Given the description of an element on the screen output the (x, y) to click on. 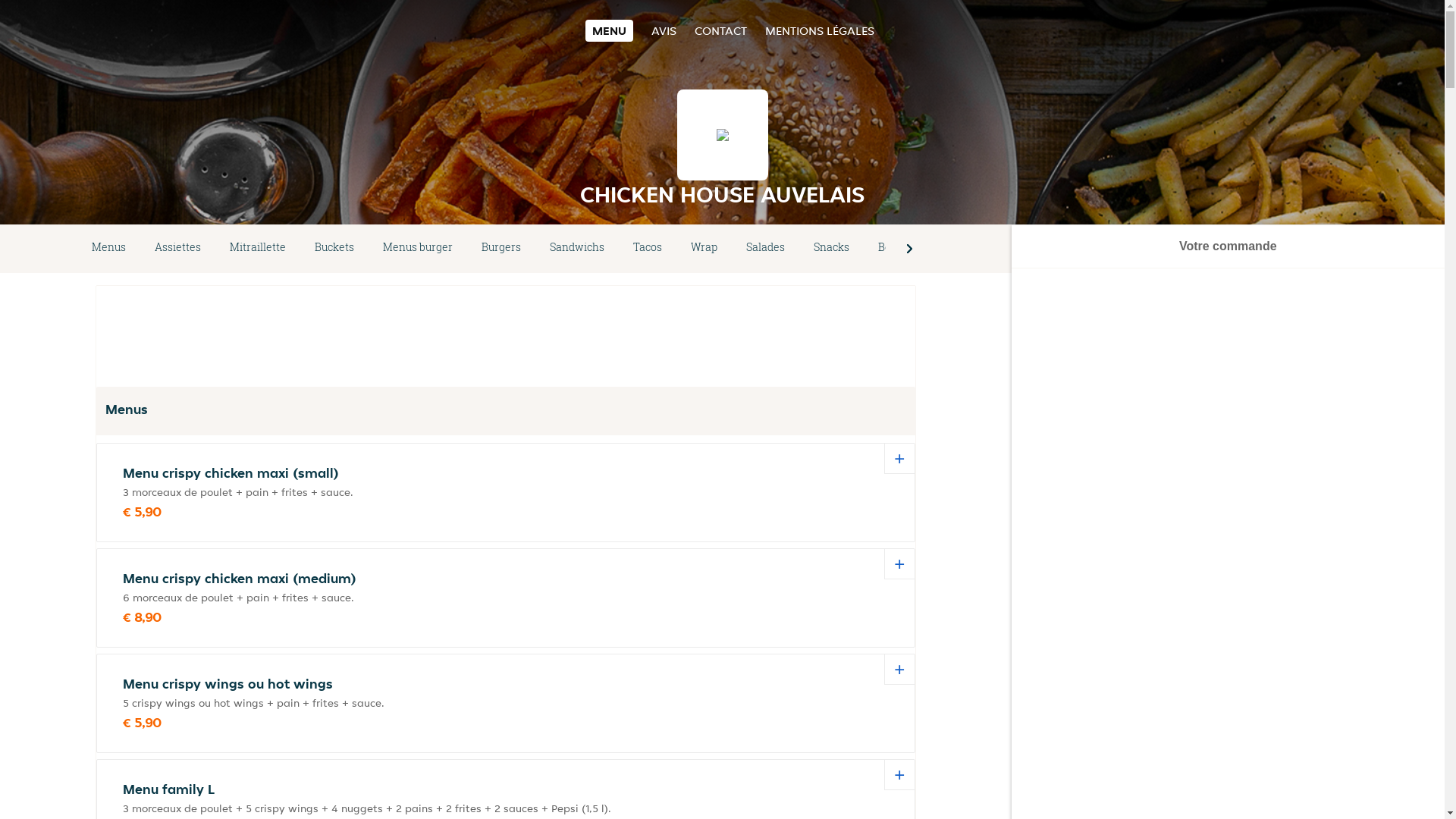
Sandwichs Element type: text (576, 248)
Menus burger Element type: text (417, 248)
Assiettes Element type: text (177, 248)
Tacos Element type: text (647, 248)
Menus Element type: text (108, 248)
Snacks Element type: text (831, 248)
Buckets Element type: text (334, 248)
Boissons Element type: text (900, 248)
Wrap Element type: text (703, 248)
MENU Element type: text (609, 30)
CONTACT Element type: text (720, 30)
AVIS Element type: text (663, 30)
Mitraillette Element type: text (257, 248)
Salades Element type: text (765, 248)
Burgers Element type: text (501, 248)
